Given the description of an element on the screen output the (x, y) to click on. 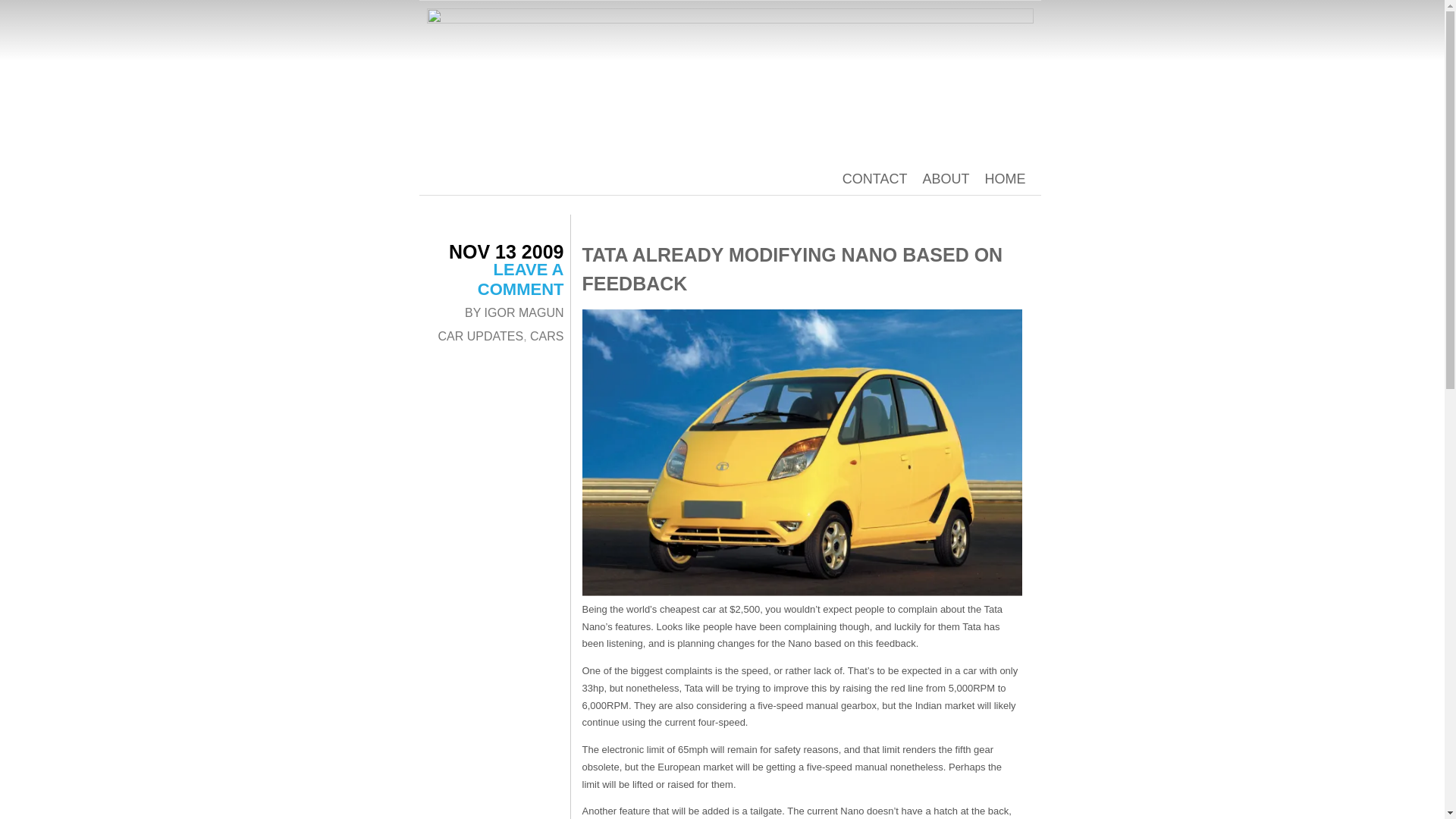
Tata Nano (802, 452)
CONTACT (875, 178)
CARS (546, 336)
CAR UPDATES (481, 336)
NOV 13 2009 (506, 251)
ABOUT (945, 178)
BY IGOR MAGUN (513, 312)
LEAVE A COMMENT (520, 279)
HOME (1004, 178)
